Given the description of an element on the screen output the (x, y) to click on. 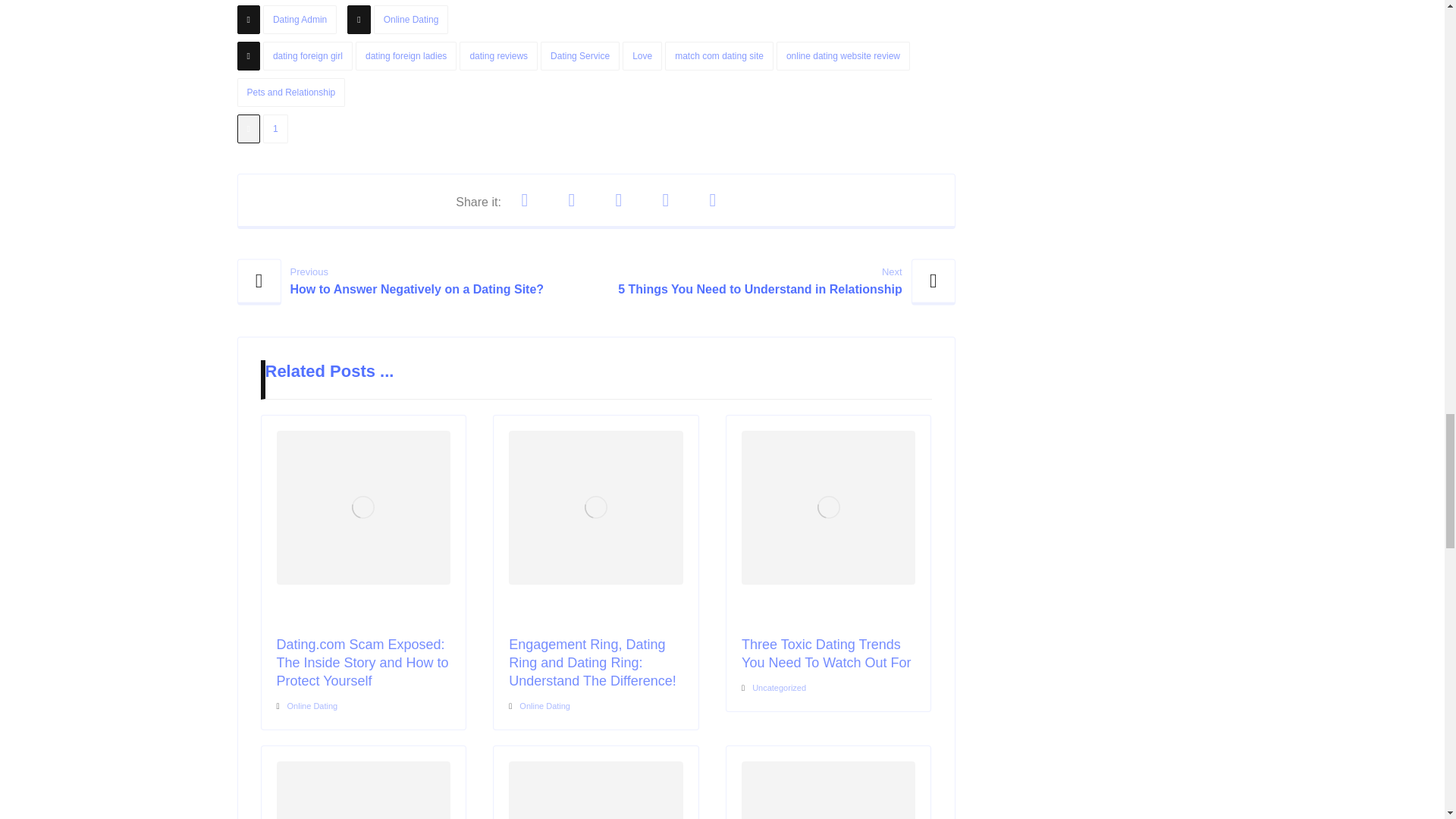
Dating Admin (299, 19)
dating foreign ladies (406, 55)
dating reviews (498, 55)
Dating Service (580, 55)
Love (642, 55)
Posted by (287, 22)
Views (262, 132)
Pets and Relationship (290, 92)
online dating website review (843, 55)
dating foreign girl (307, 55)
Tags (595, 77)
match com dating site (719, 55)
Online Dating (411, 19)
